Given the description of an element on the screen output the (x, y) to click on. 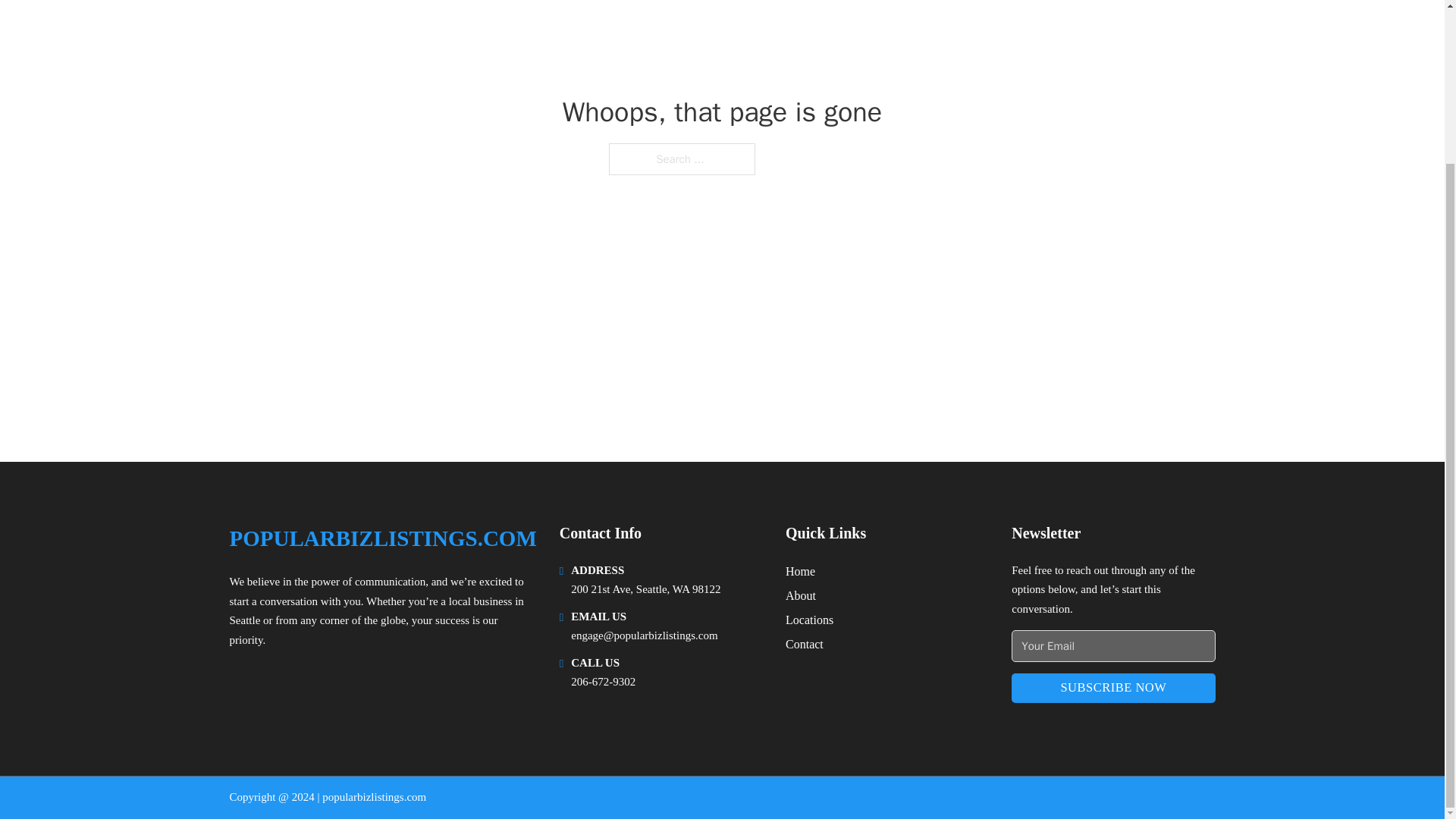
SUBSCRIBE NOW (1112, 687)
206-672-9302 (602, 681)
Contact (805, 643)
Home (800, 571)
About (800, 595)
Locations (809, 619)
POPULARBIZLISTINGS.COM (381, 538)
